Given the description of an element on the screen output the (x, y) to click on. 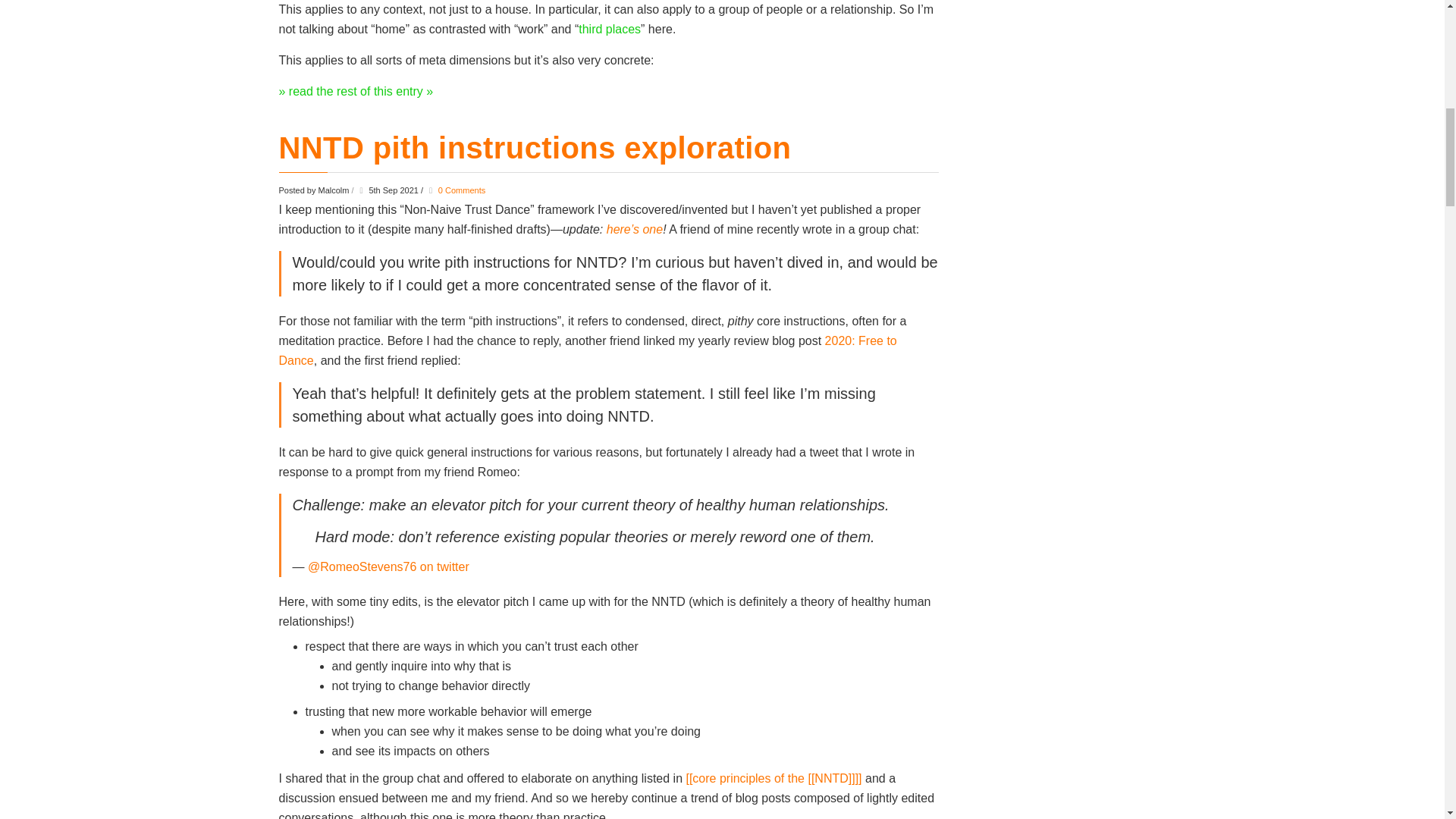
0 Comments (461, 189)
third places (609, 29)
0 Comments (461, 189)
NNTD pith instructions exploration (535, 147)
2020: Free to Dance (587, 350)
